Given the description of an element on the screen output the (x, y) to click on. 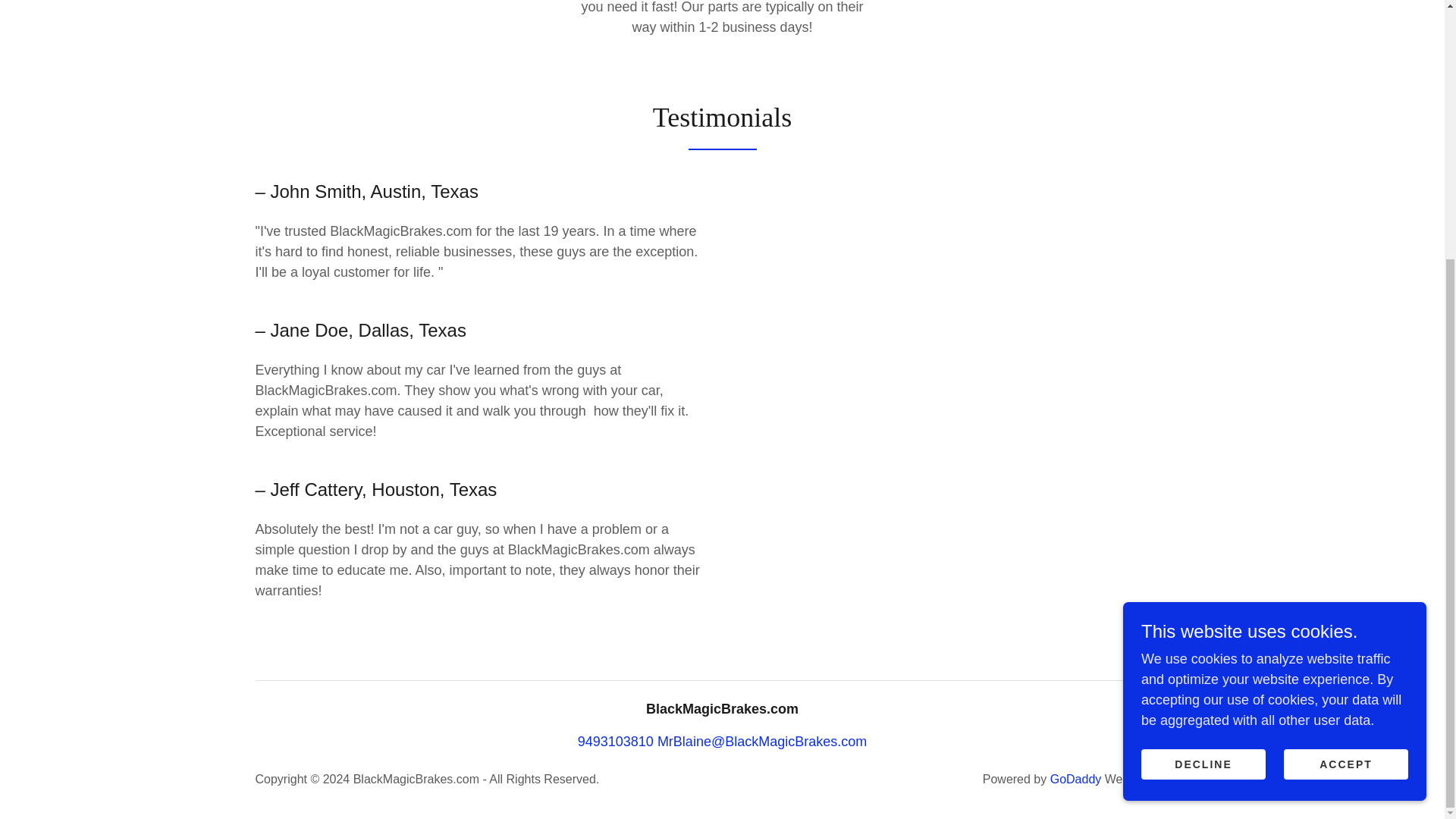
ACCEPT (1345, 394)
9493103810 (615, 741)
GoDaddy (1075, 779)
DECLINE (1203, 394)
